Given the description of an element on the screen output the (x, y) to click on. 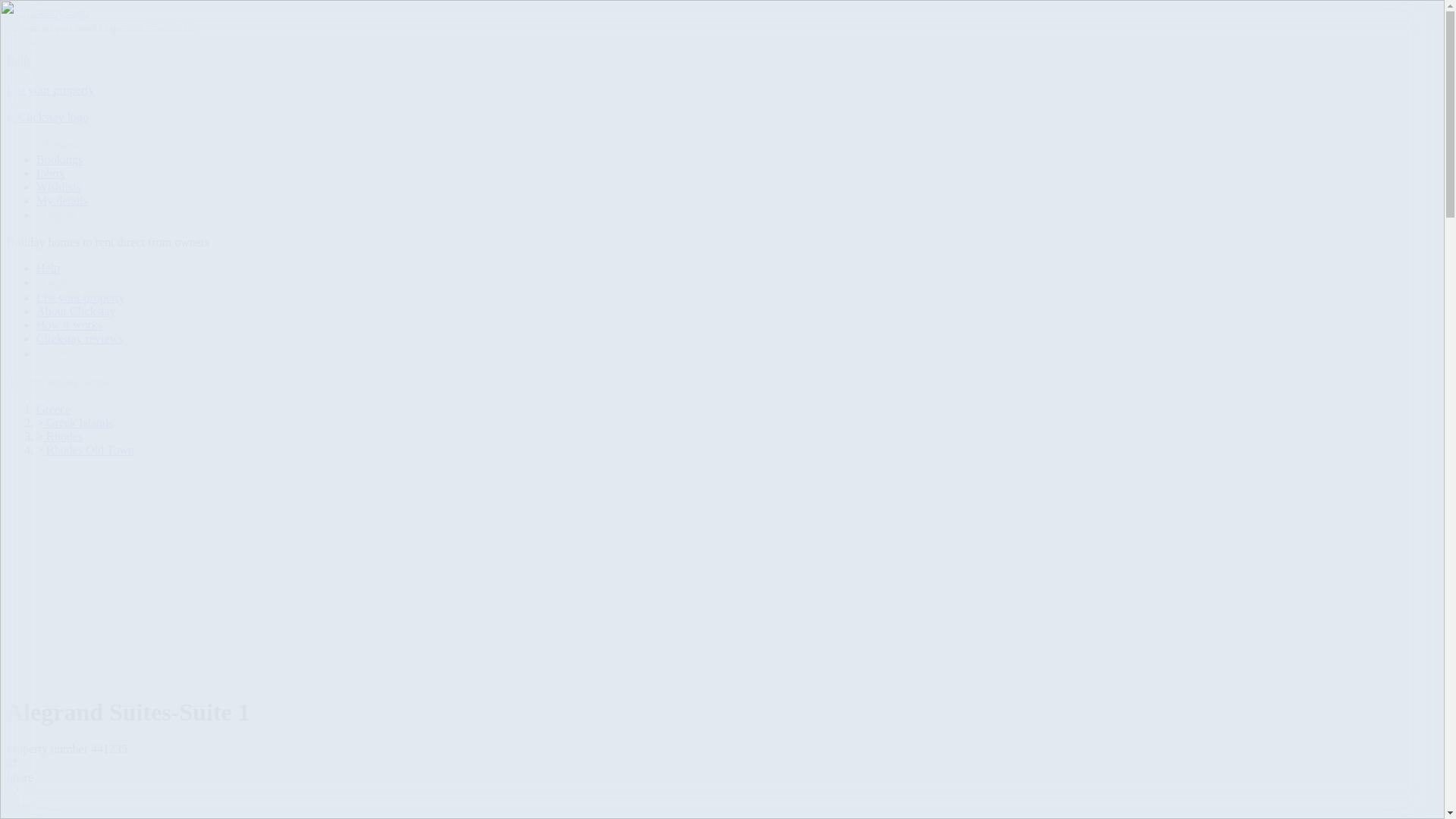
Bookings (59, 159)
Log in (55, 283)
Clickstay reviews (79, 338)
My details (61, 200)
Greece (52, 408)
Back (60, 144)
Search (167, 27)
Inbox (50, 173)
Search holiday rentals (61, 381)
Help (17, 60)
